Given the description of an element on the screen output the (x, y) to click on. 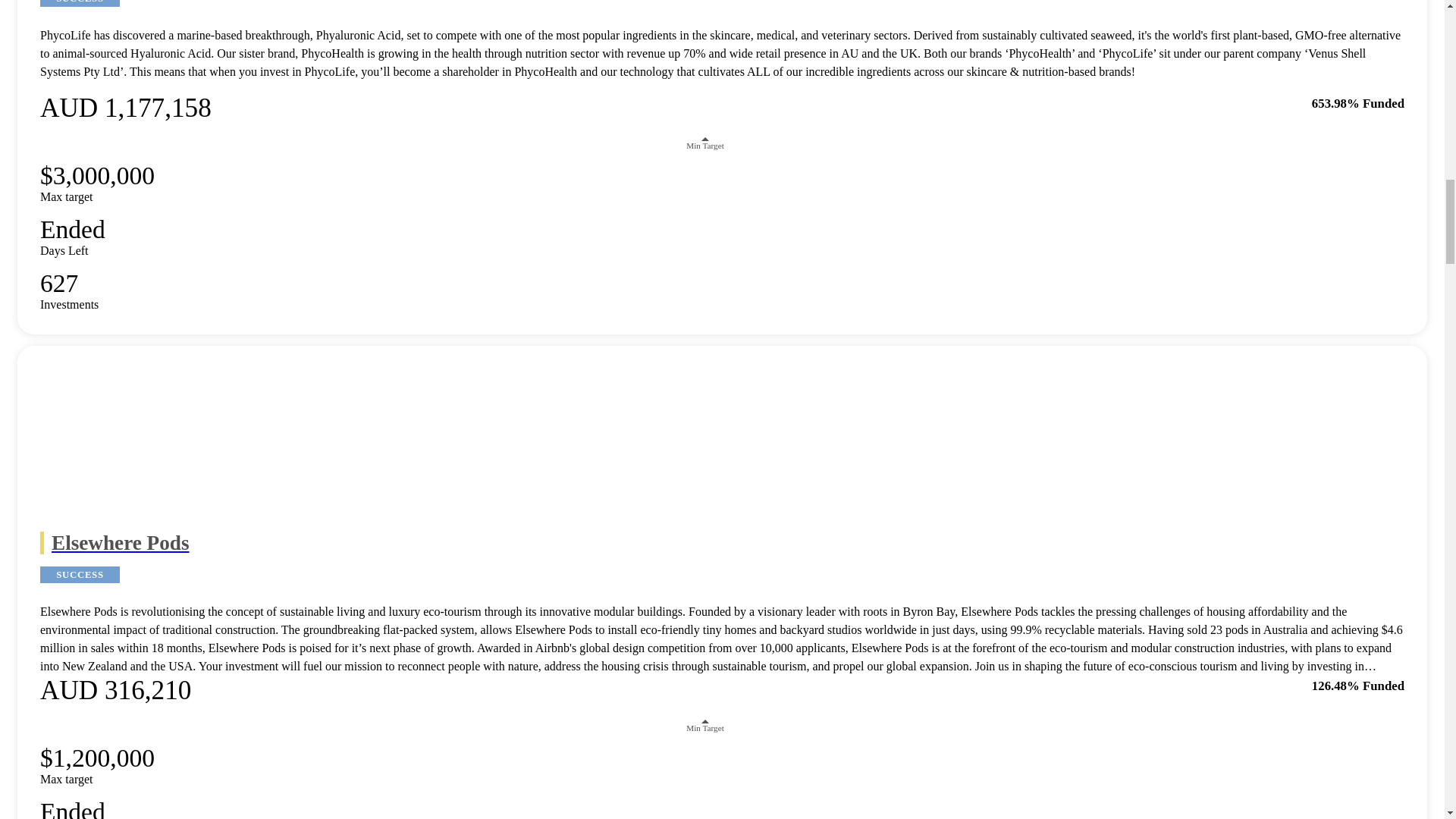
Elsewhere Pods (722, 543)
